Given the description of an element on the screen output the (x, y) to click on. 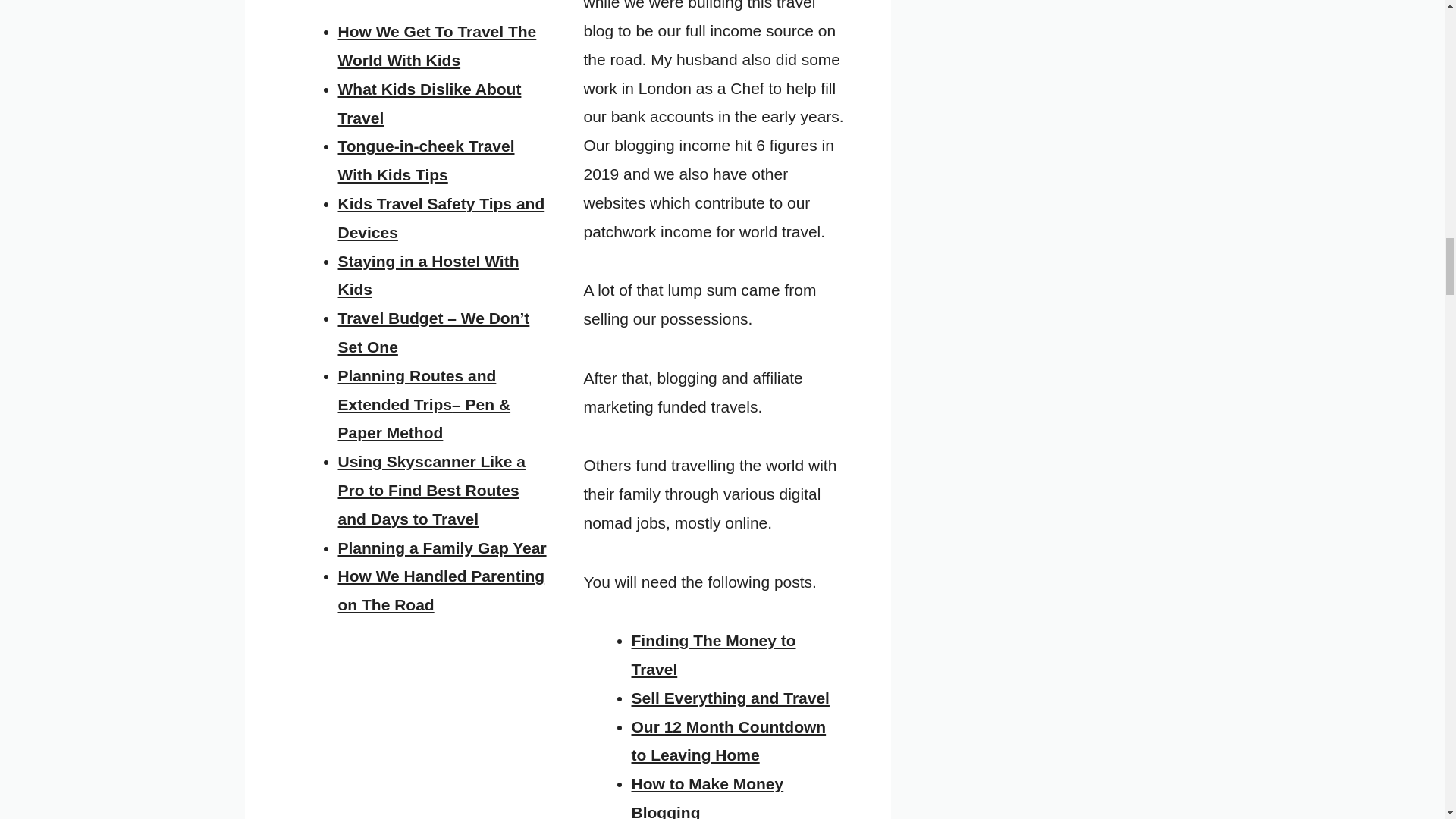
Tongue-in-cheek Travel With Kids Tips (426, 160)
How We Get To Travel The World With Kids (437, 45)
Staying in a Hostel With Kids (428, 275)
What Kids Dislike About Travel (429, 103)
Kids Travel Safety Tips and Devices (440, 217)
